Given the description of an element on the screen output the (x, y) to click on. 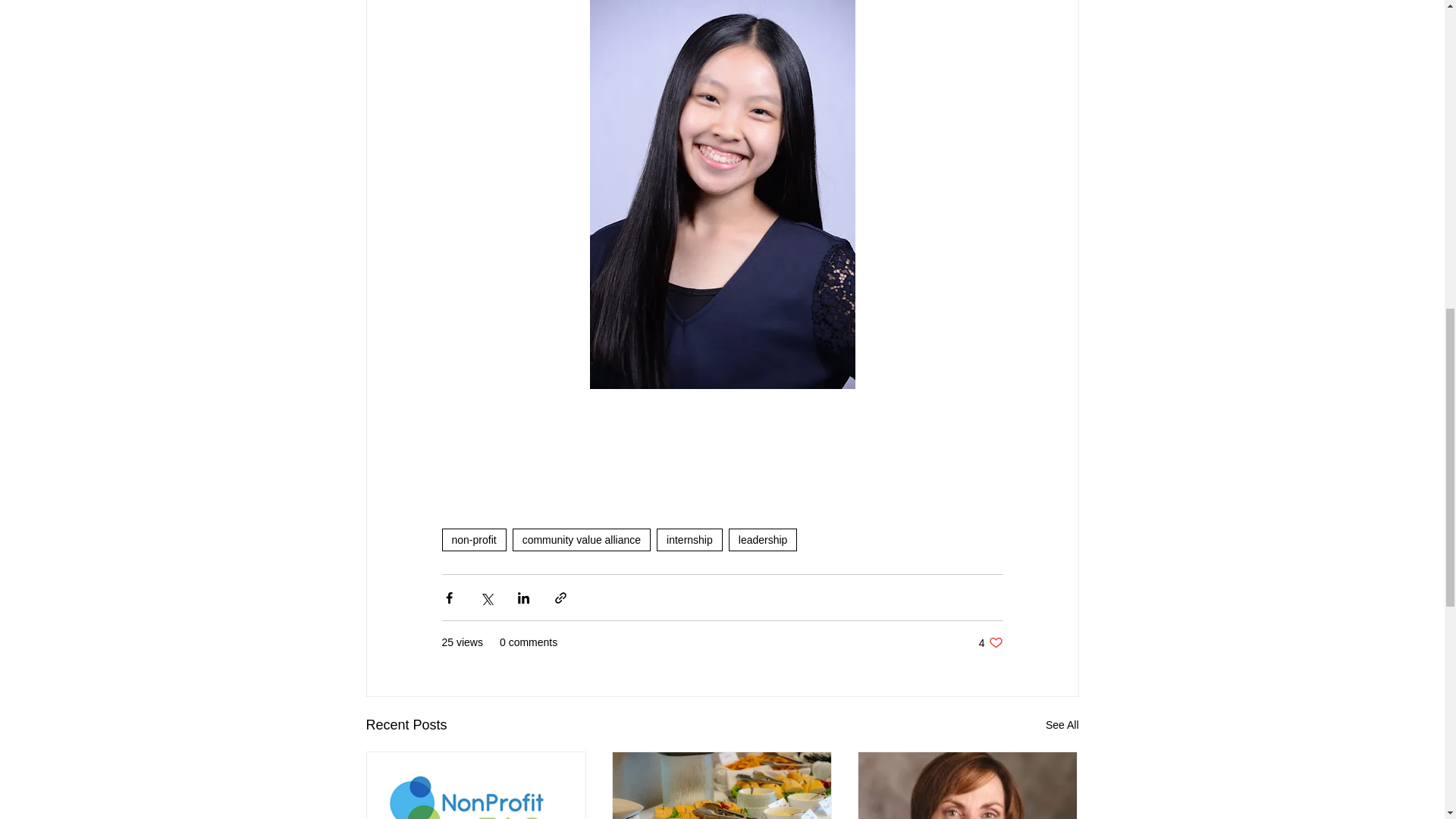
community value alliance (581, 539)
leadership (763, 539)
See All (1061, 725)
non-profit (473, 539)
internship (689, 539)
